Given the description of an element on the screen output the (x, y) to click on. 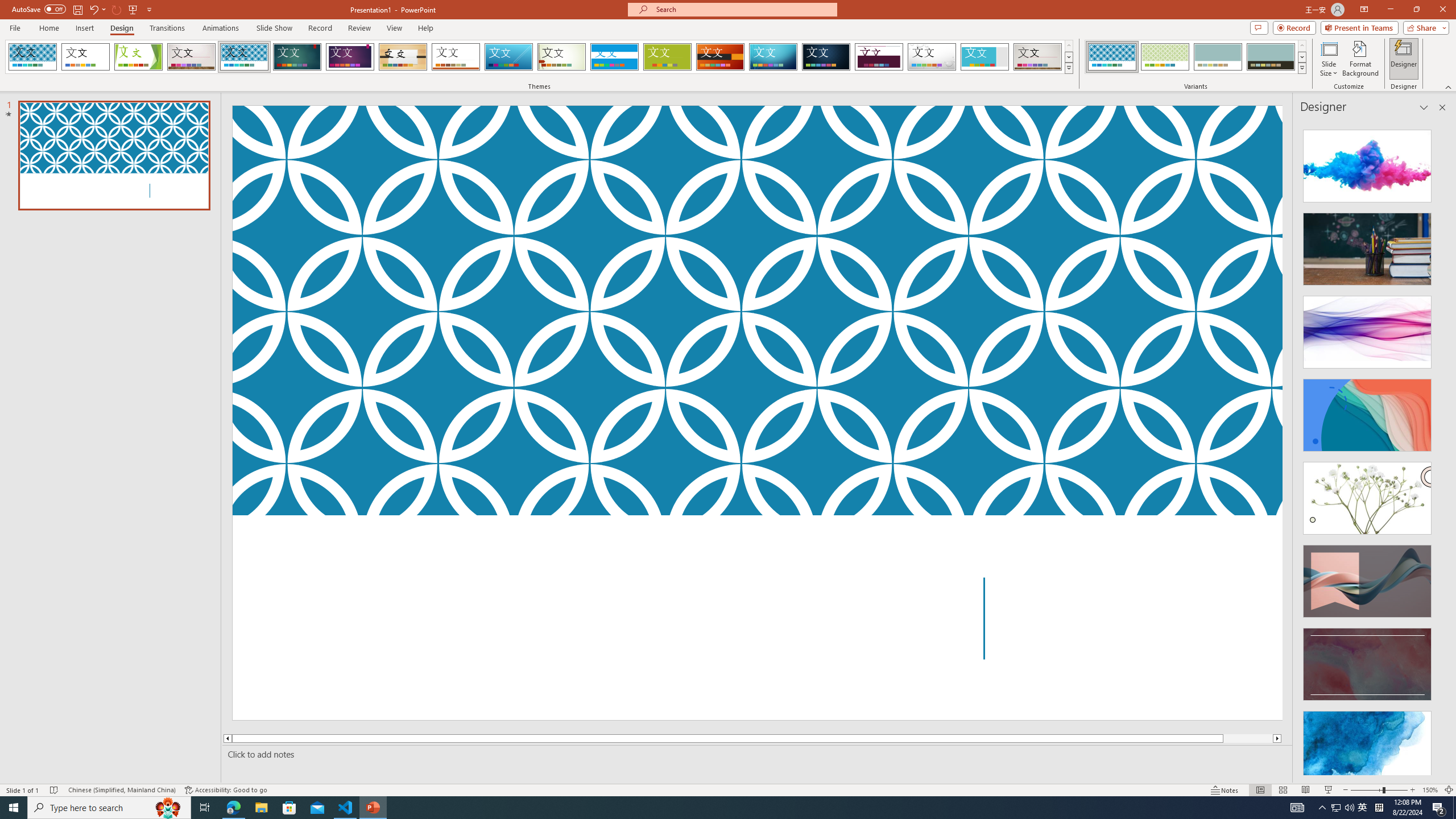
AutomationID: SlideThemesGallery (539, 56)
Slide (114, 155)
Integral Variant 4 (1270, 56)
Circuit Loading Preview... (772, 56)
Integral Variant 3 (1217, 56)
Office Theme (85, 56)
Spell Check No Errors (54, 790)
Task Pane Options (1423, 107)
